Given the description of an element on the screen output the (x, y) to click on. 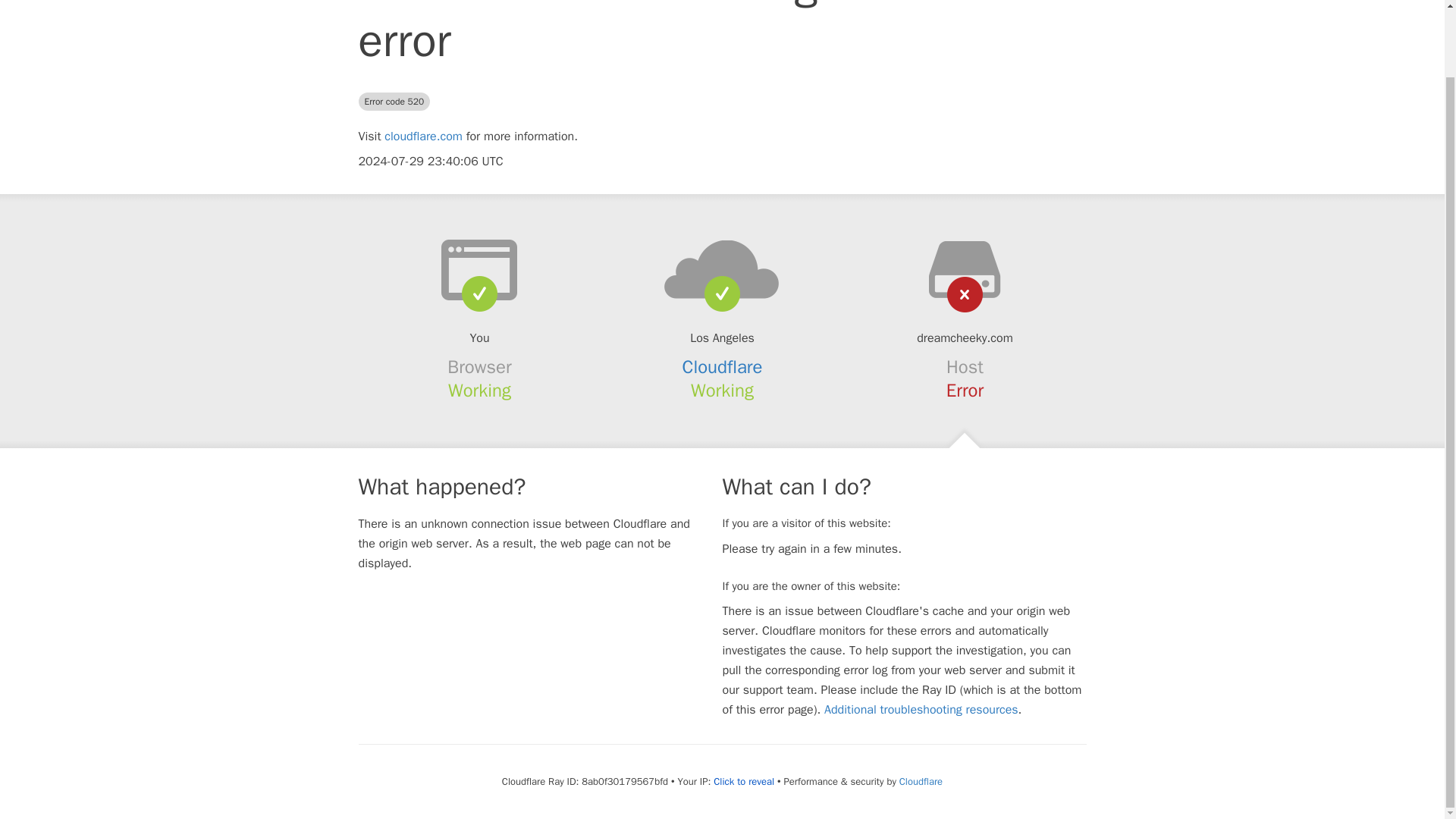
Click to reveal (743, 781)
Additional troubleshooting resources (920, 709)
Cloudflare (920, 780)
cloudflare.com (423, 136)
Cloudflare (722, 366)
